Given the description of an element on the screen output the (x, y) to click on. 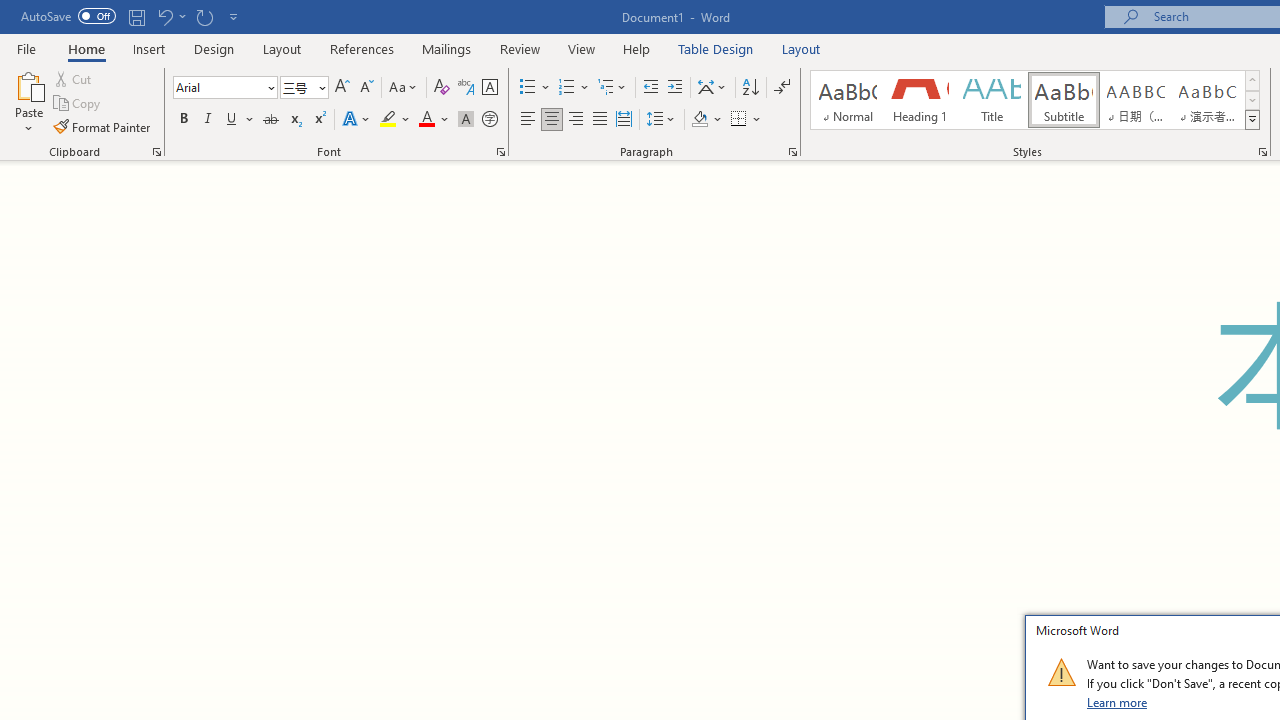
Repeat Paste (204, 15)
Cut (73, 78)
Quick Access Toolbar (131, 16)
Row Down (1252, 100)
AutoSave (68, 16)
Heading 1 (920, 100)
Shrink Font (365, 87)
Paragraph... (792, 151)
Design (214, 48)
Asian Layout (712, 87)
